Given the description of an element on the screen output the (x, y) to click on. 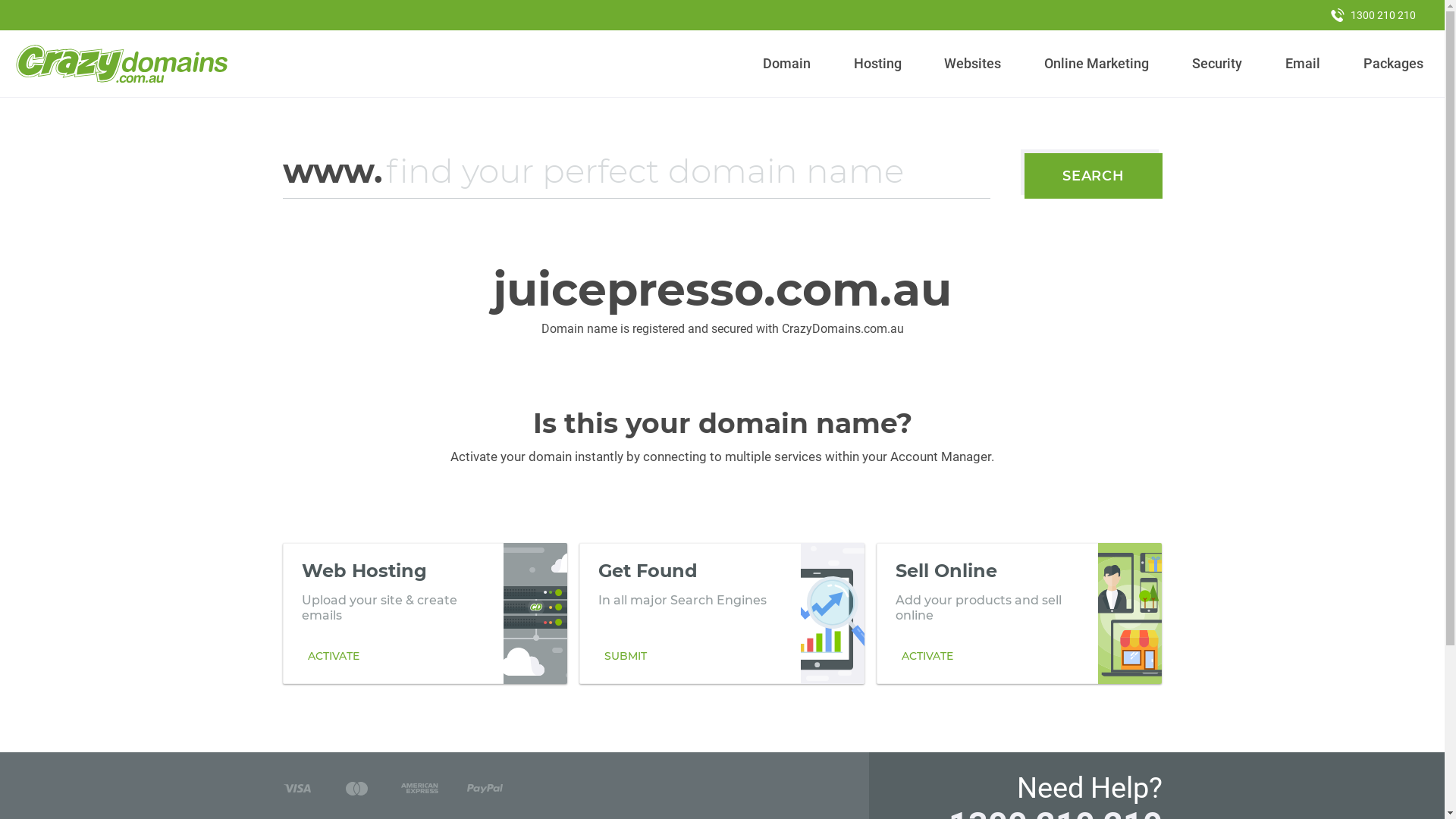
Security Element type: text (1217, 63)
Hosting Element type: text (877, 63)
Domain Element type: text (786, 63)
Packages Element type: text (1392, 63)
SEARCH Element type: text (1092, 175)
Online Marketing Element type: text (1096, 63)
1300 210 210 Element type: text (1373, 15)
Email Element type: text (1302, 63)
Websites Element type: text (972, 63)
Sell Online
Add your products and sell online
ACTIVATE Element type: text (1018, 613)
Get Found
In all major Search Engines
SUBMIT Element type: text (721, 613)
Web Hosting
Upload your site & create emails
ACTIVATE Element type: text (424, 613)
